Given the description of an element on the screen output the (x, y) to click on. 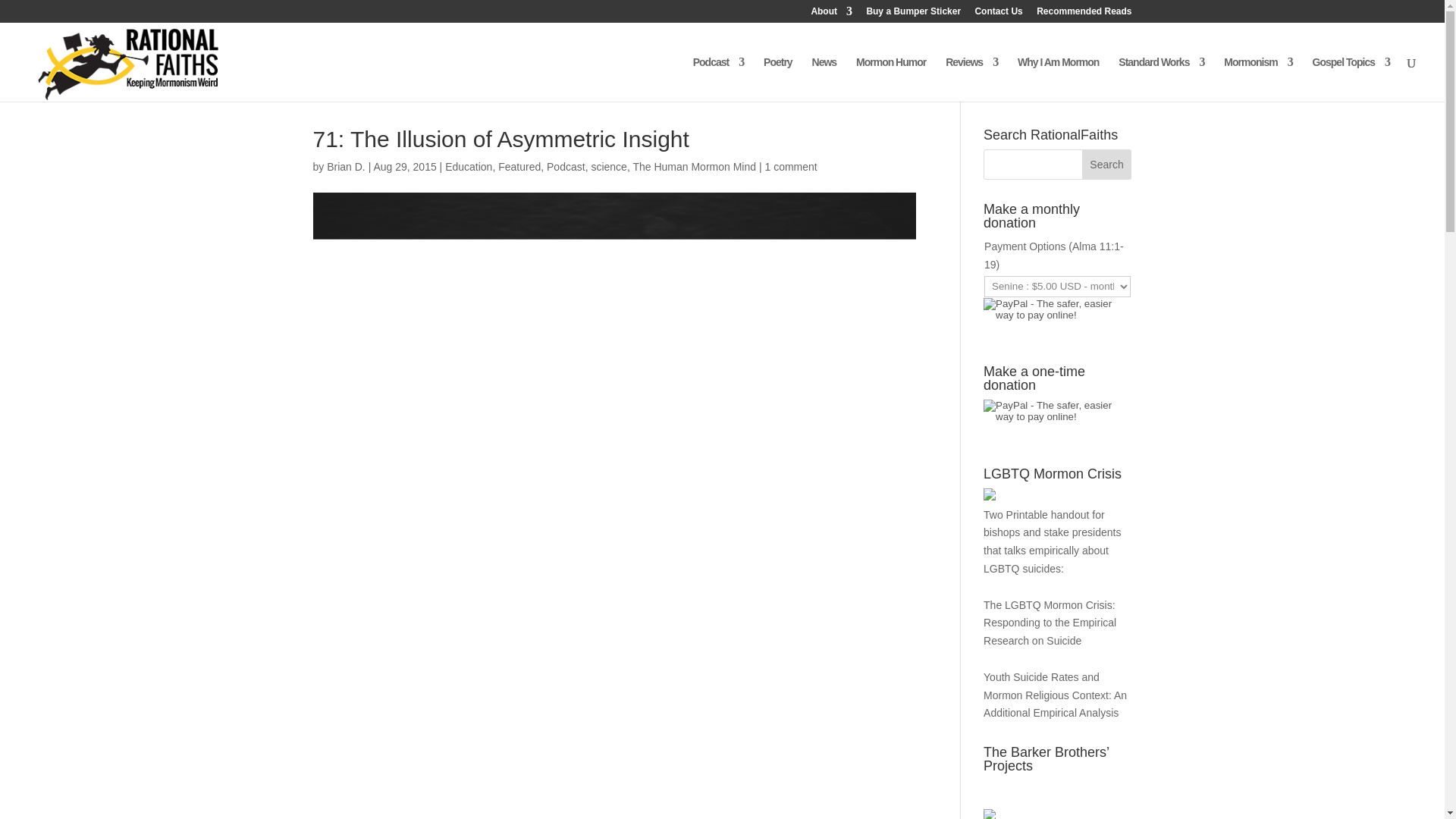
Reviews (970, 78)
Contact Us (998, 14)
Why I Am Mormon (1058, 78)
Posts by Brian D. (345, 166)
Buy a Bumper Sticker (913, 14)
Recommended Reads (1083, 14)
About (830, 14)
Standard Works (1161, 78)
Mormonism (1258, 78)
Mormon Humor (891, 78)
